Given the description of an element on the screen output the (x, y) to click on. 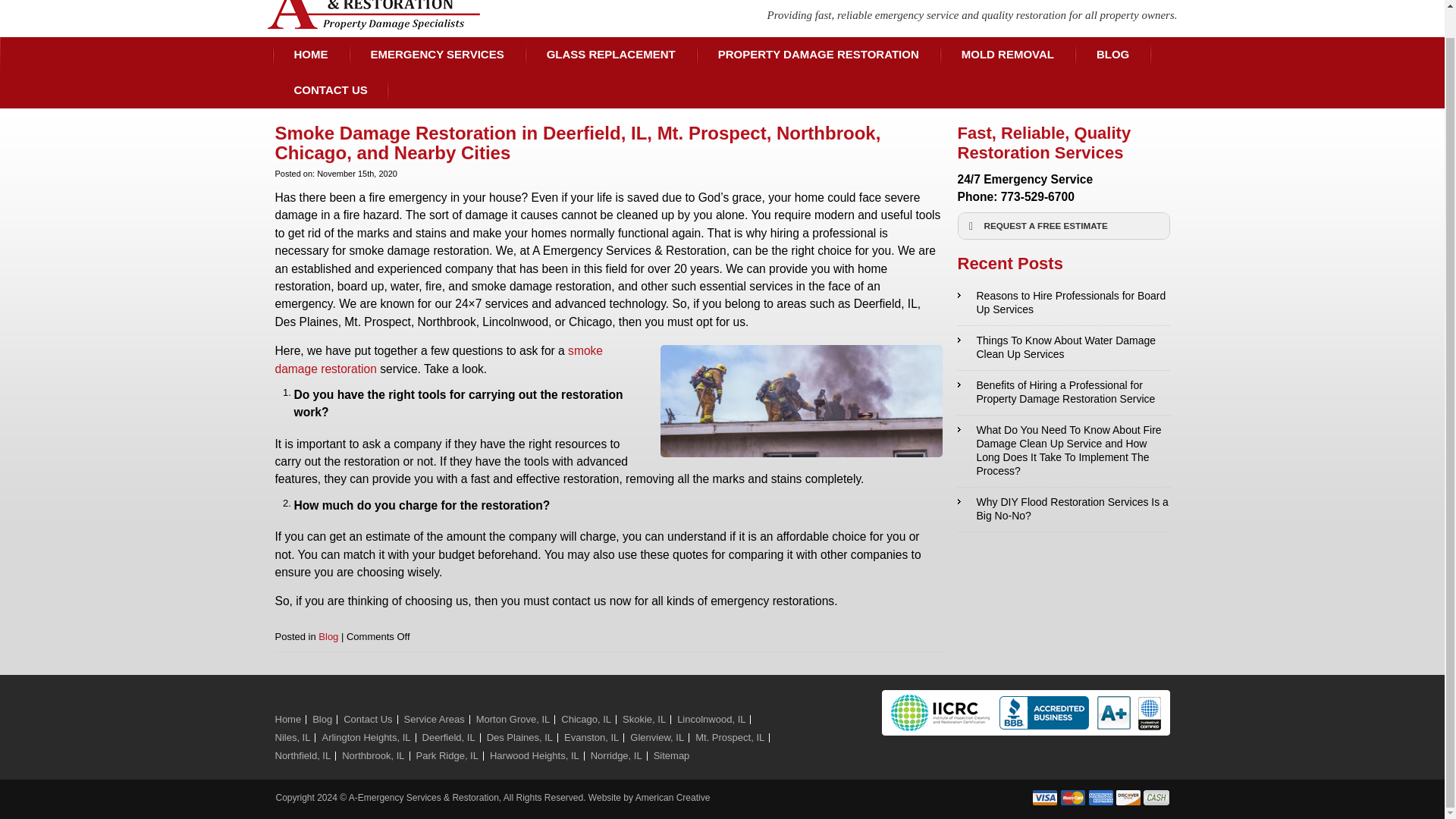
773-529-6700 (1037, 196)
Glenview, IL (657, 737)
PROPERTY DAMAGE RESTORATION (818, 54)
Arlington Heights, IL (365, 737)
Niles, IL (292, 737)
Lincolnwood, IL (711, 718)
CONTACT US (330, 90)
Send (1114, 586)
MOLD REMOVAL (1007, 54)
Reasons to Hire Professionals for Board Up Services (1071, 302)
Morton Grove, IL (513, 718)
Why DIY Flood Restoration Services Is a Big No-No? (1072, 508)
smoke damage restoration (438, 358)
Mt. Prospect, IL (729, 737)
